Given the description of an element on the screen output the (x, y) to click on. 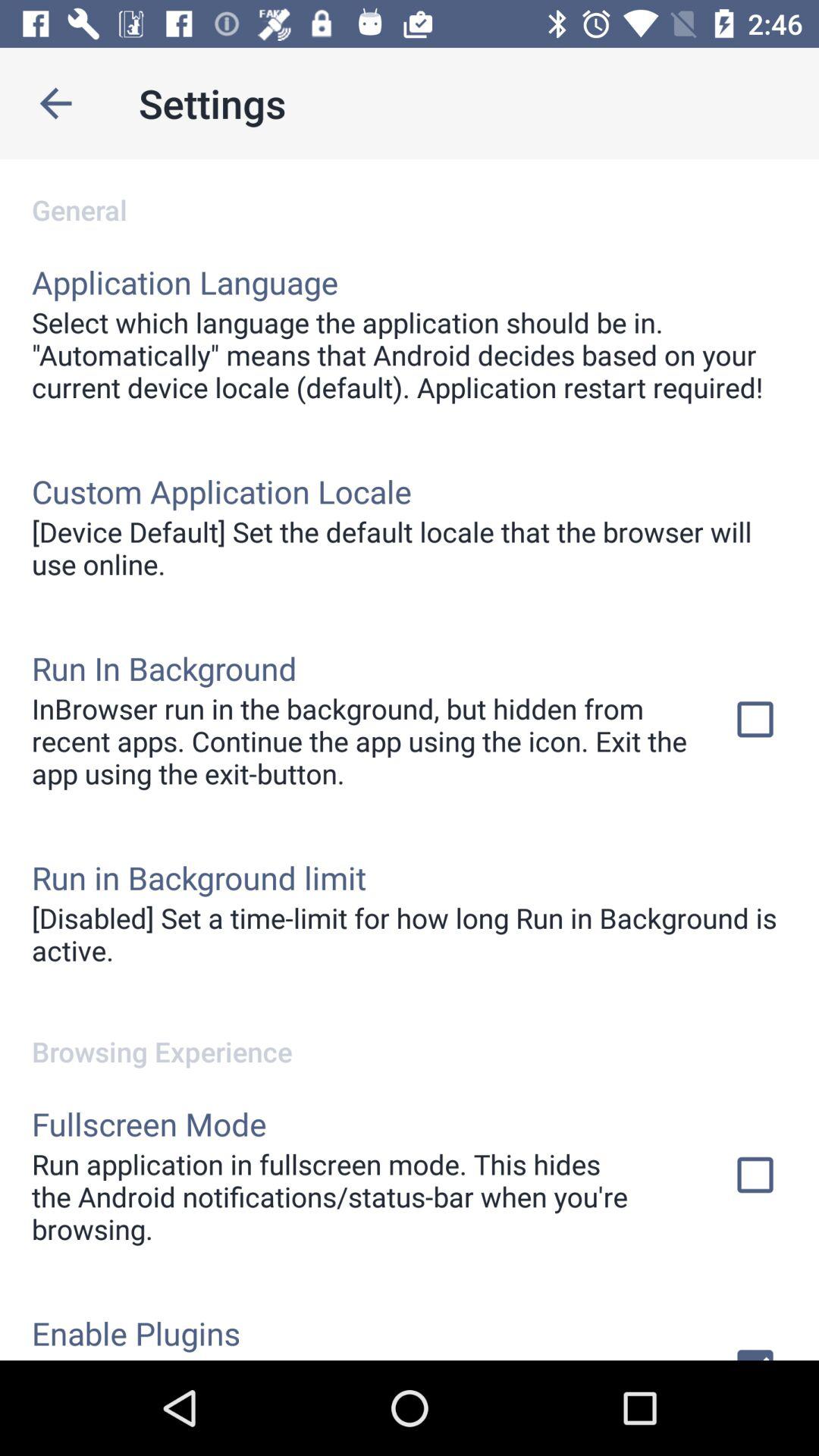
go to previous (55, 103)
